Given the description of an element on the screen output the (x, y) to click on. 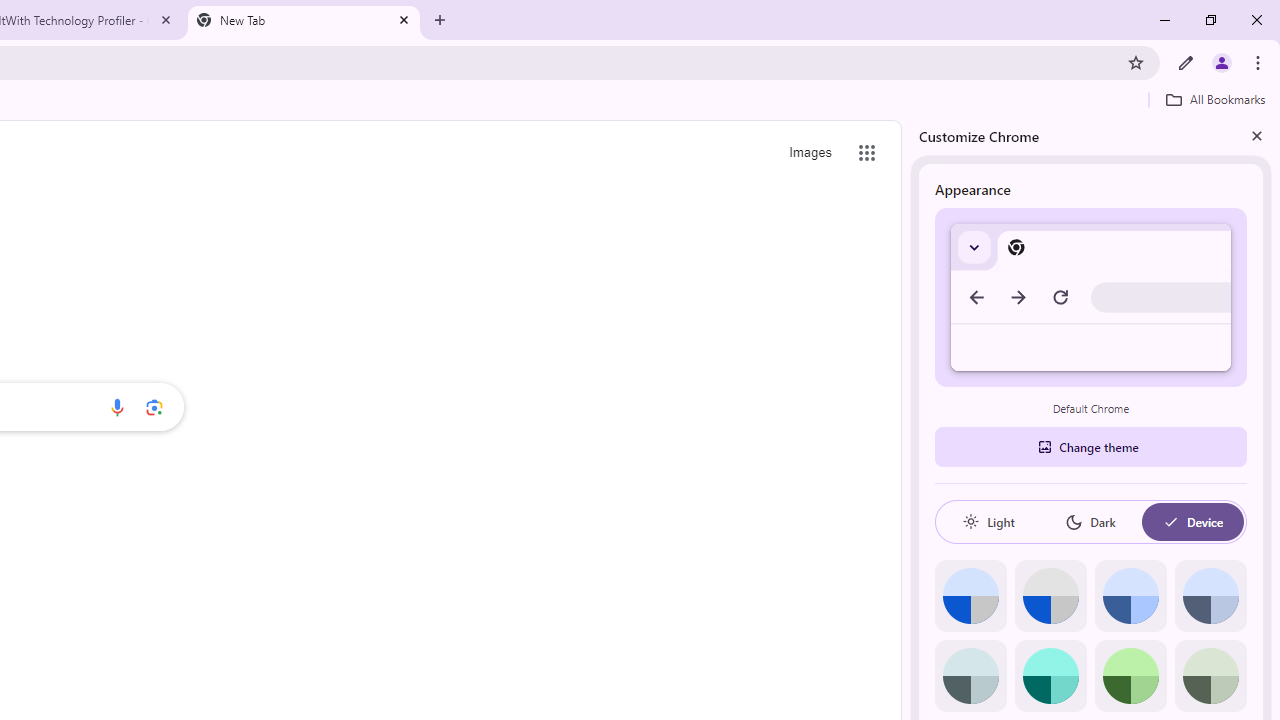
Default Chrome (1091, 296)
AutomationID: baseSvg (1170, 521)
Blue (1130, 596)
Viridian (1210, 676)
Device (1192, 521)
New Tab (304, 20)
